Given the description of an element on the screen output the (x, y) to click on. 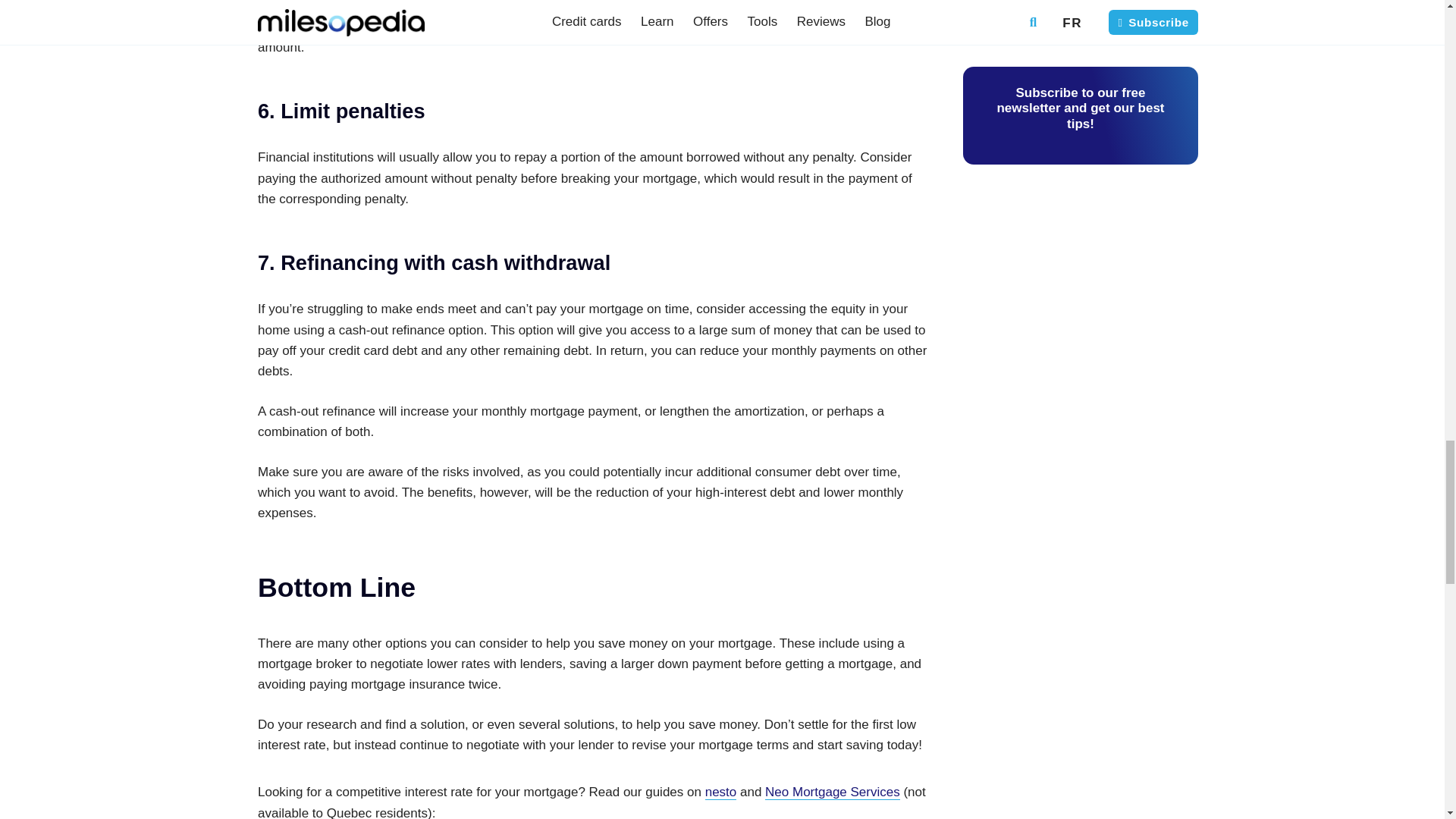
Nesto (720, 792)
